Given the description of an element on the screen output the (x, y) to click on. 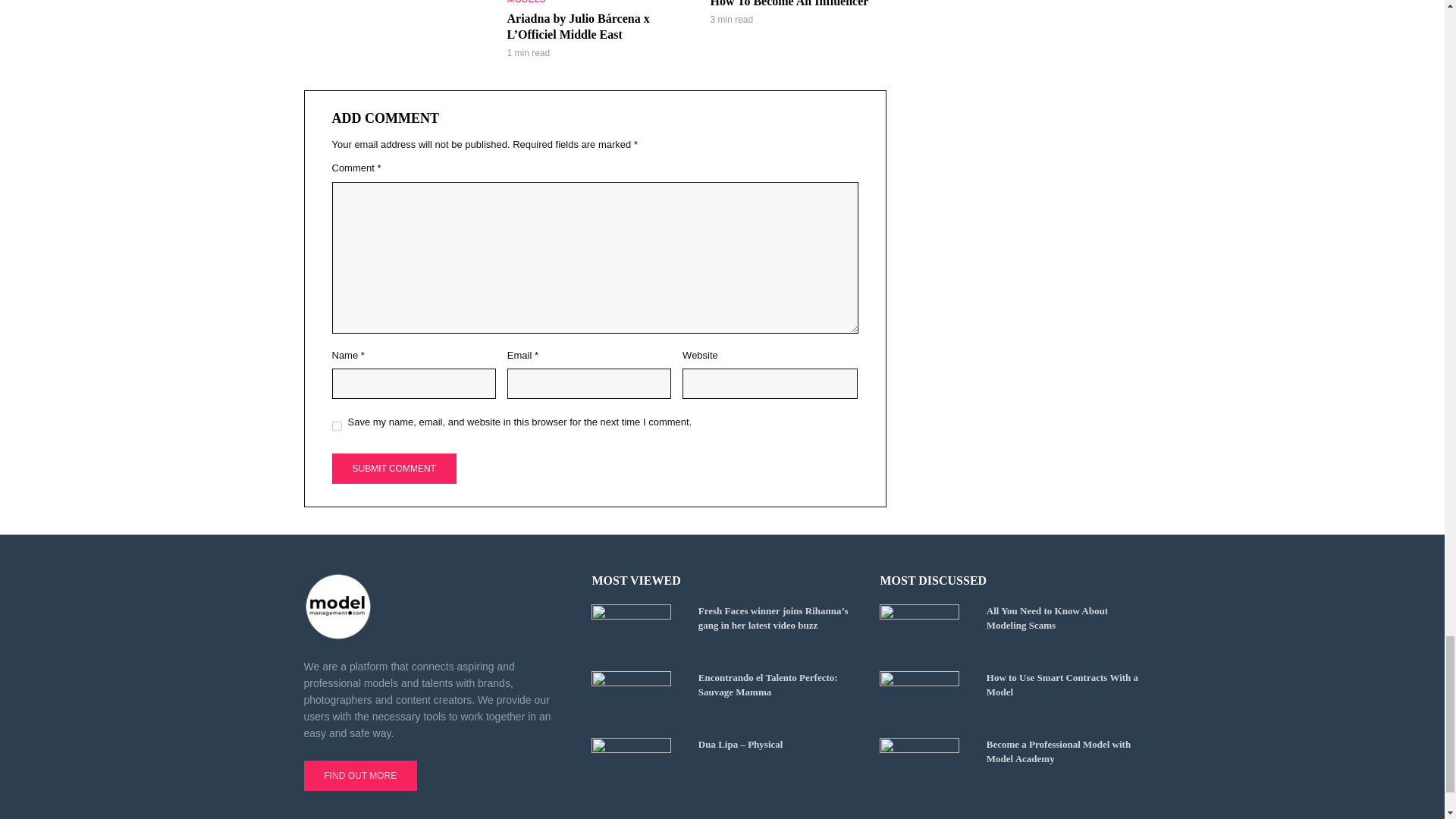
Encontrando el Talento Perfecto: Sauvage Mamma (637, 696)
Submit Comment (394, 468)
How to Use Smart Contracts With a Model (925, 696)
All You Need to Know About Modeling Scams (925, 630)
Become a Professional Model with Model Academy (925, 764)
